Given the description of an element on the screen output the (x, y) to click on. 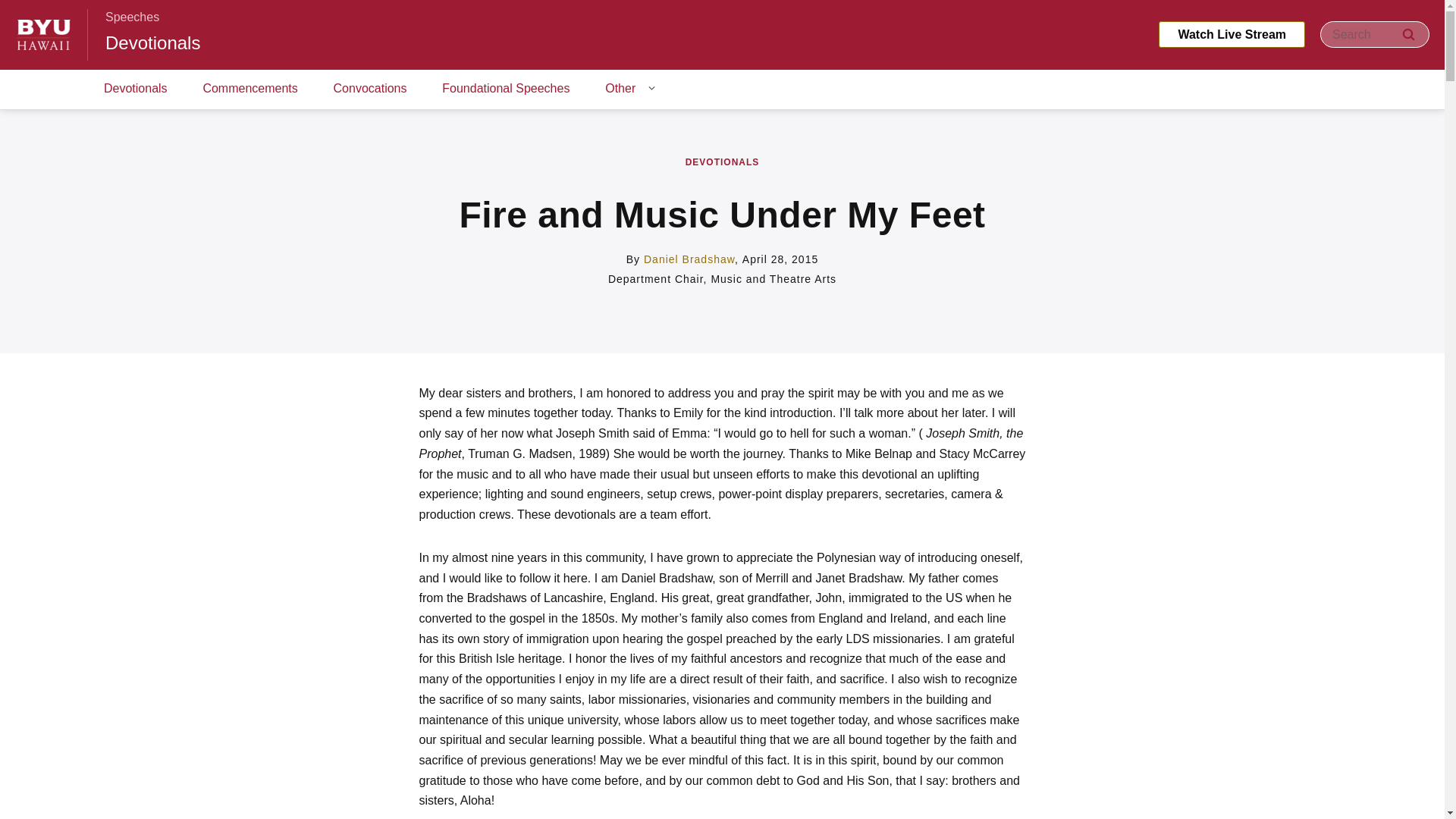
DEVOTIONALS (722, 162)
Commencements (250, 89)
Search (1408, 34)
Speeches (131, 16)
Daniel Bradshaw (689, 259)
Watch Live Stream (1231, 34)
Devotionals (135, 89)
Convocations (370, 89)
Foundational Speeches (505, 89)
Devotionals (152, 42)
